Given the description of an element on the screen output the (x, y) to click on. 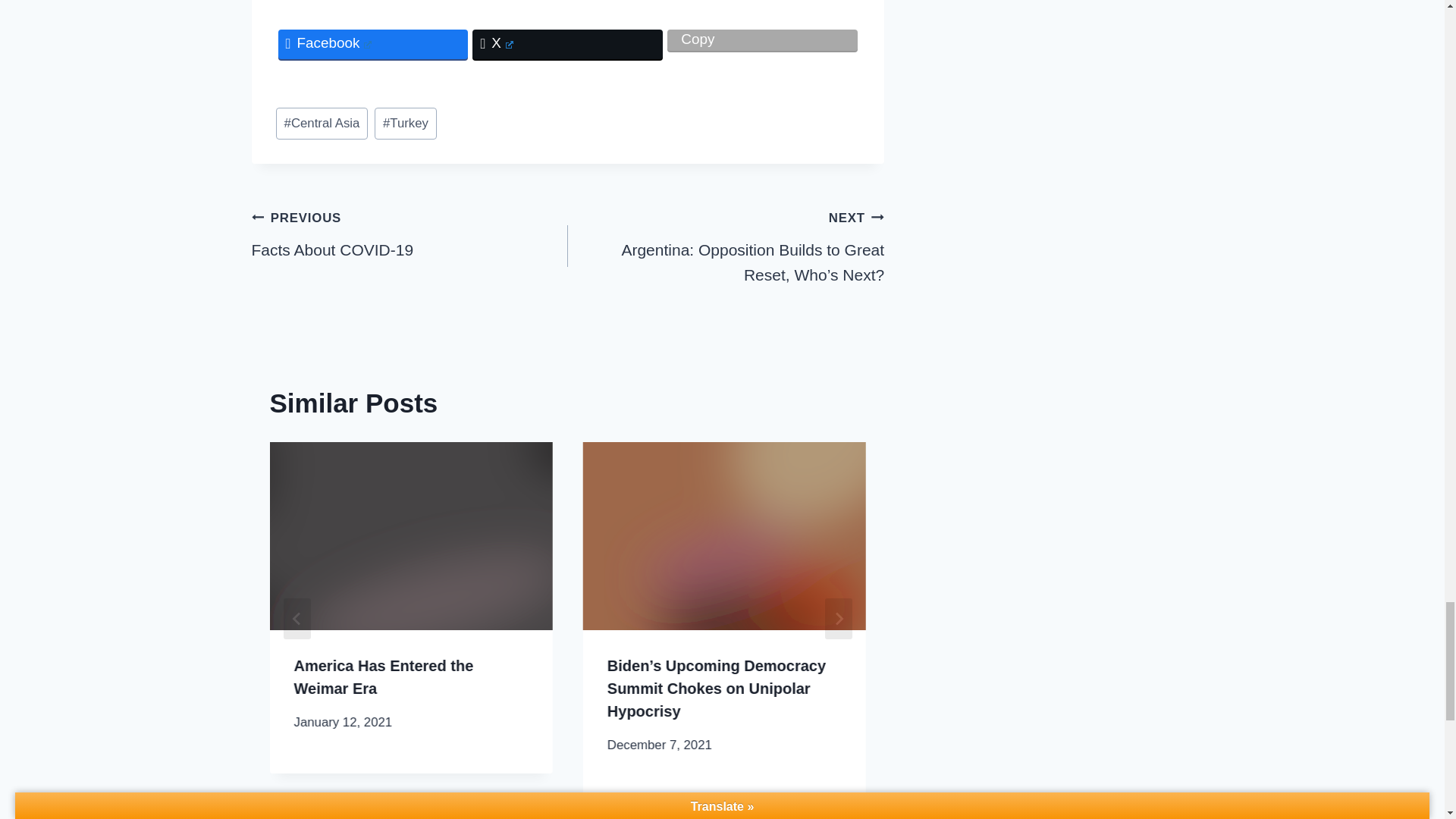
Facebook (372, 43)
Central Asia (322, 123)
Copy (761, 39)
X (566, 43)
Turkey (405, 123)
